Given the description of an element on the screen output the (x, y) to click on. 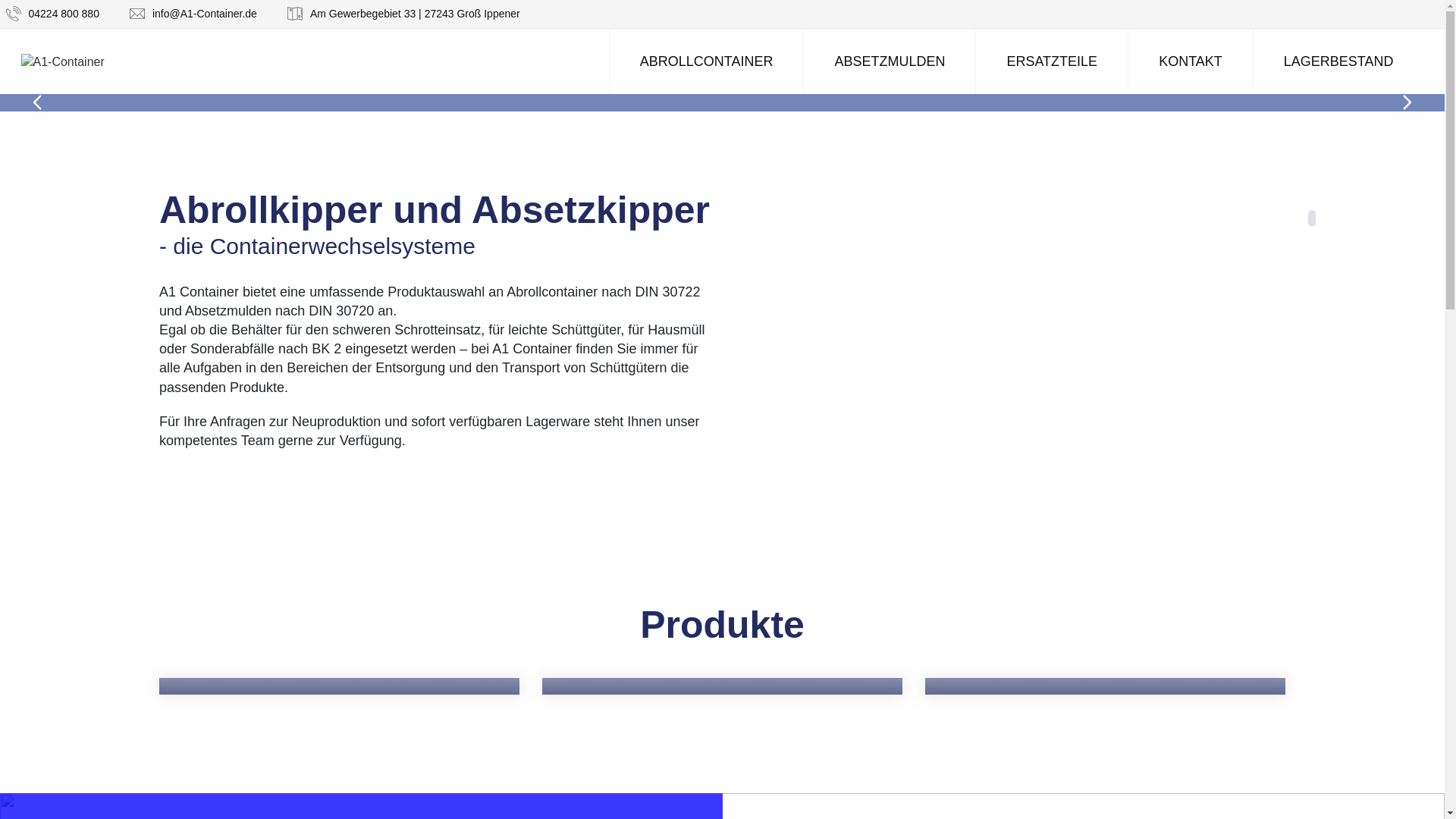
LAGERBESTAND Element type: text (1338, 61)
info@A1-Container.de Element type: text (193, 13)
ERSATZTEILE Element type: text (1051, 61)
Lagerbestand Element type: text (1105, 685)
ABSETZMULDEN Element type: text (889, 61)
KONTAKT Element type: text (1189, 61)
A1-Container Element type: hover (62, 60)
ABROLLCONTAINER Element type: text (705, 61)
Abrollcontainer Element type: text (339, 685)
Absetzmulden Element type: text (722, 685)
04224 800 880 Element type: text (52, 13)
